Given the description of an element on the screen output the (x, y) to click on. 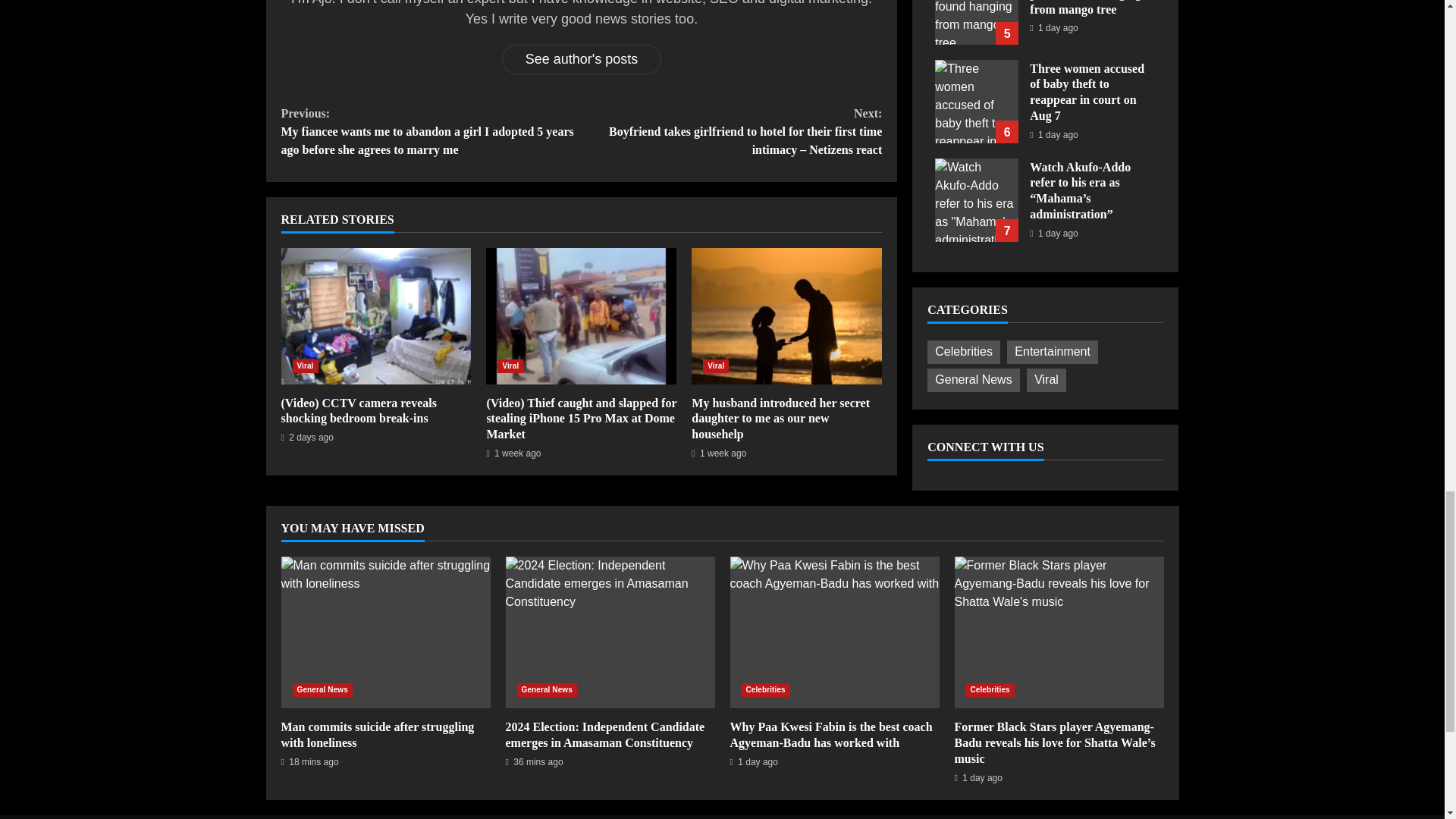
Man commits suicide after struggling with loneliness (385, 632)
Viral (509, 366)
Viral (716, 366)
See author's posts (582, 58)
Viral (305, 366)
